Given the description of an element on the screen output the (x, y) to click on. 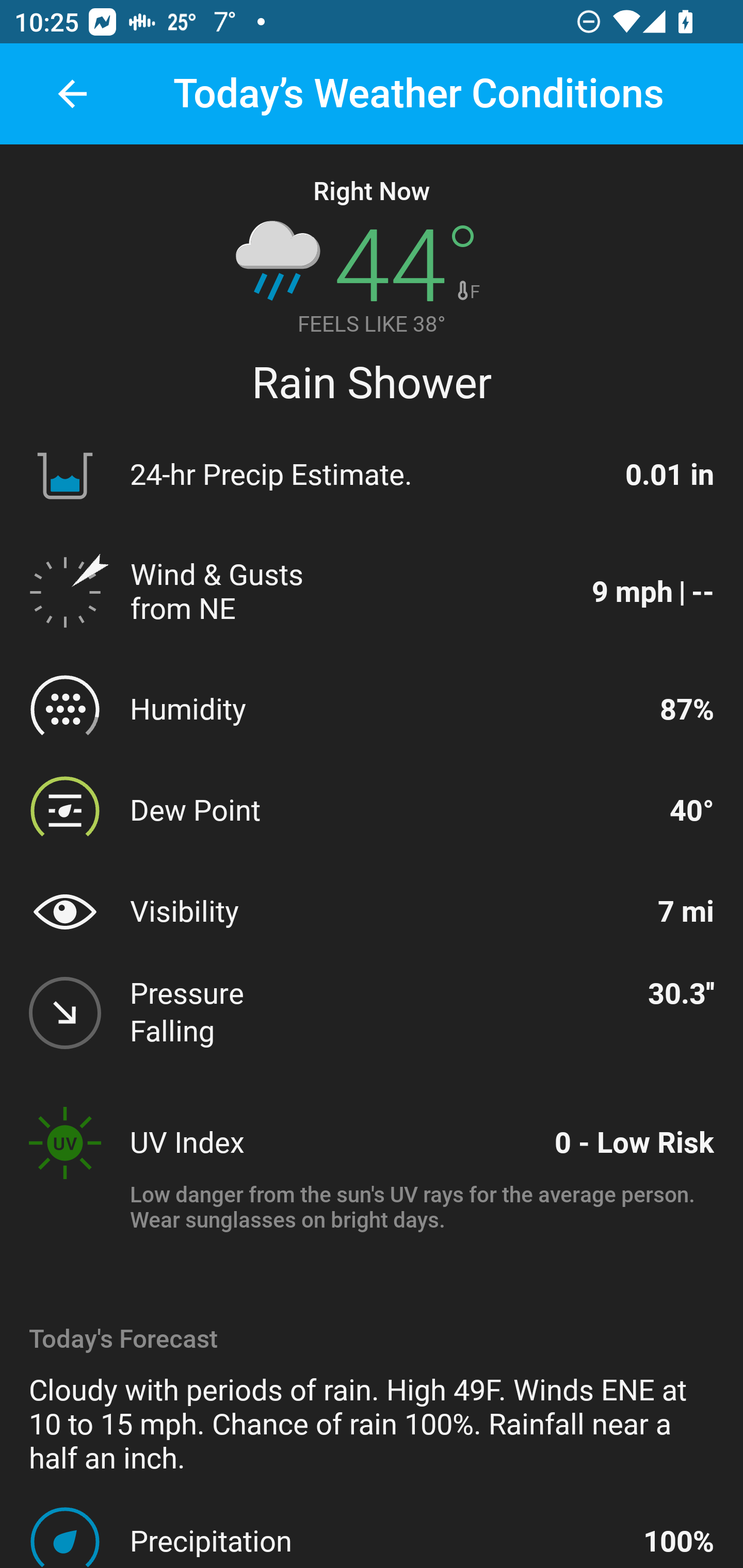
back (71, 93)
Precipitation (377, 1541)
100% (678, 1541)
